Given the description of an element on the screen output the (x, y) to click on. 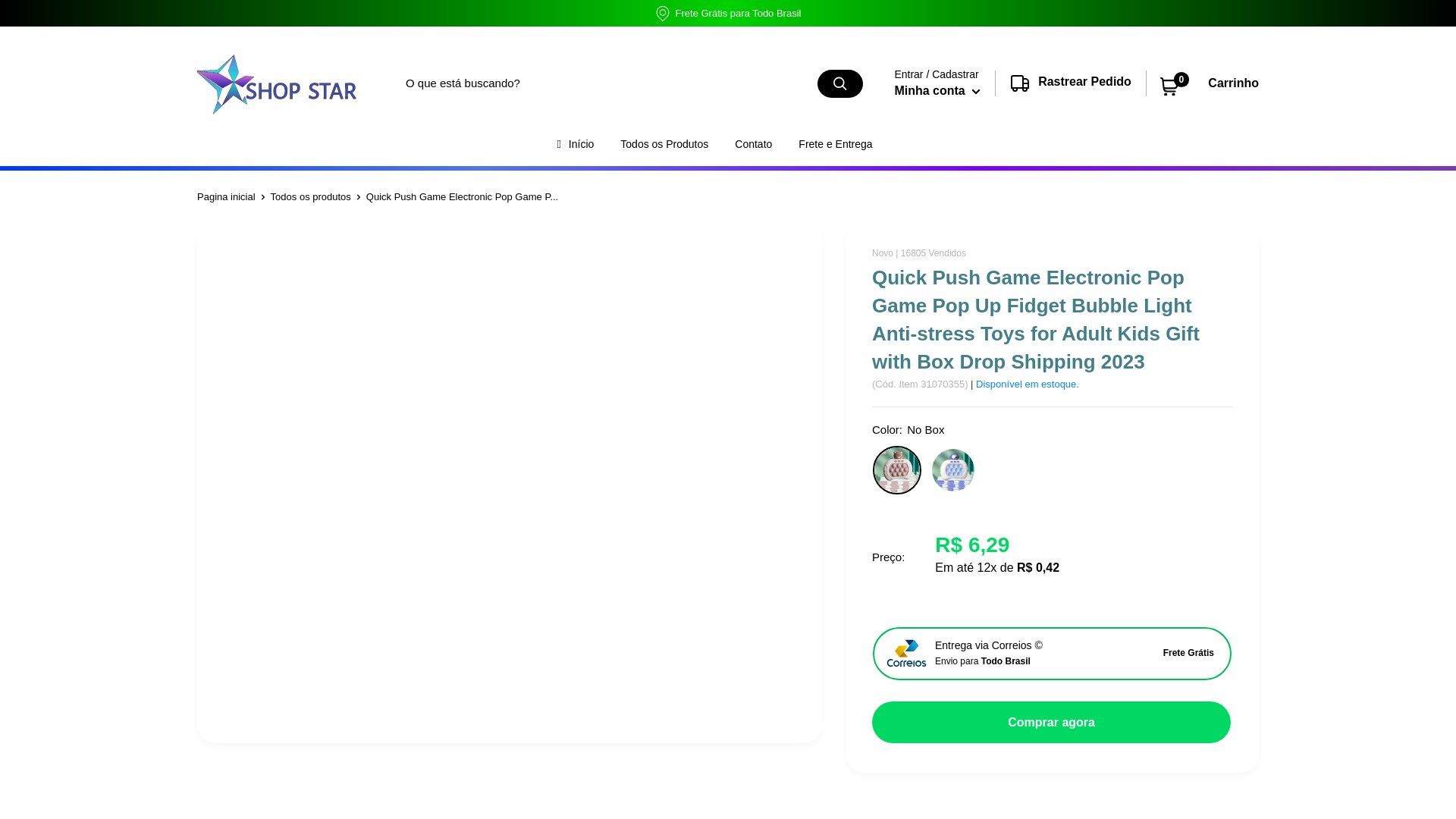
Contato (753, 143)
Todos os Produtos (663, 143)
Pagina inicial (226, 196)
No Box 1 (952, 469)
Rastrear Pedido (1070, 92)
No Box (896, 469)
Minha conta (1210, 83)
Todos os produtos (936, 90)
Frete e Entrega (310, 196)
